Given the description of an element on the screen output the (x, y) to click on. 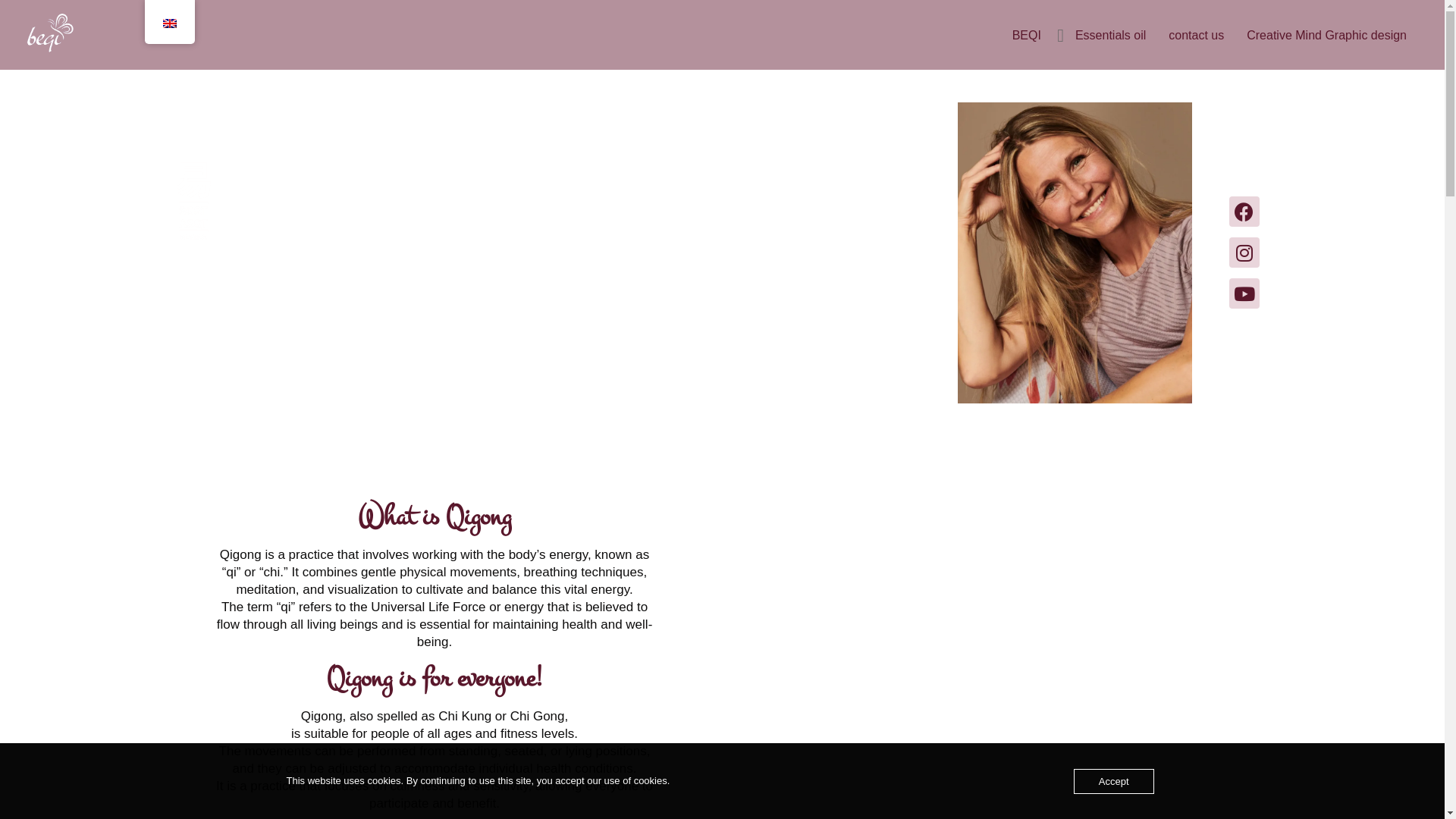
Accept Element type: text (1113, 780)
contact us Element type: text (1196, 34)
Essentials oil Element type: text (1110, 34)
BEQI Element type: text (722, 91)
Creative Mind Graphic design Element type: text (1326, 34)
English Element type: hover (168, 23)
BEQI Element type: text (1026, 34)
